Given the description of an element on the screen output the (x, y) to click on. 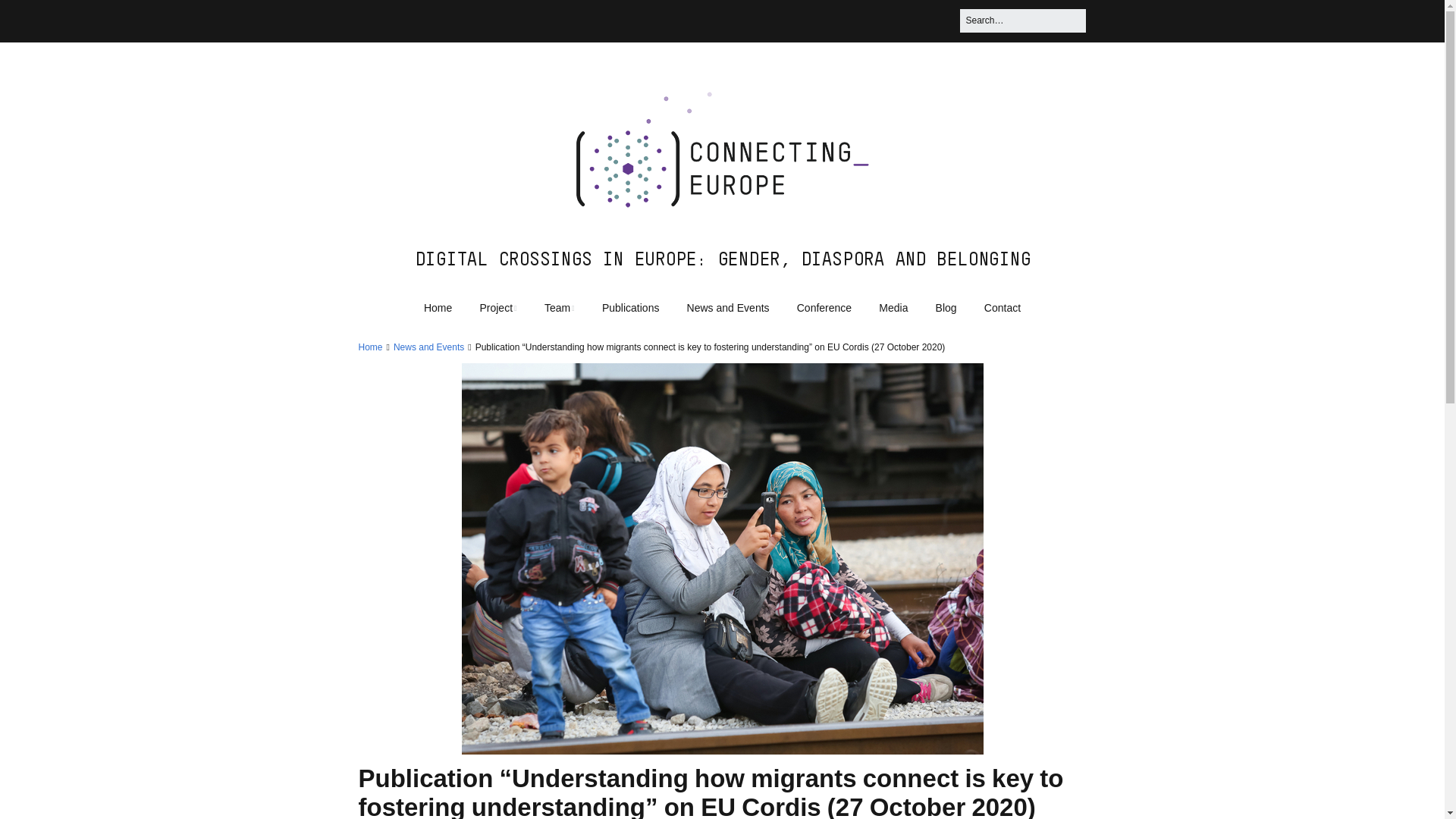
Home (438, 308)
Blog (946, 308)
Search (29, 16)
Press Enter to submit your search (1022, 20)
Team (559, 308)
Home (369, 347)
Publications (630, 308)
Contact (1002, 308)
Media (893, 308)
Conference (823, 308)
Project (497, 308)
News and Events (428, 347)
News and Events (728, 308)
